Given the description of an element on the screen output the (x, y) to click on. 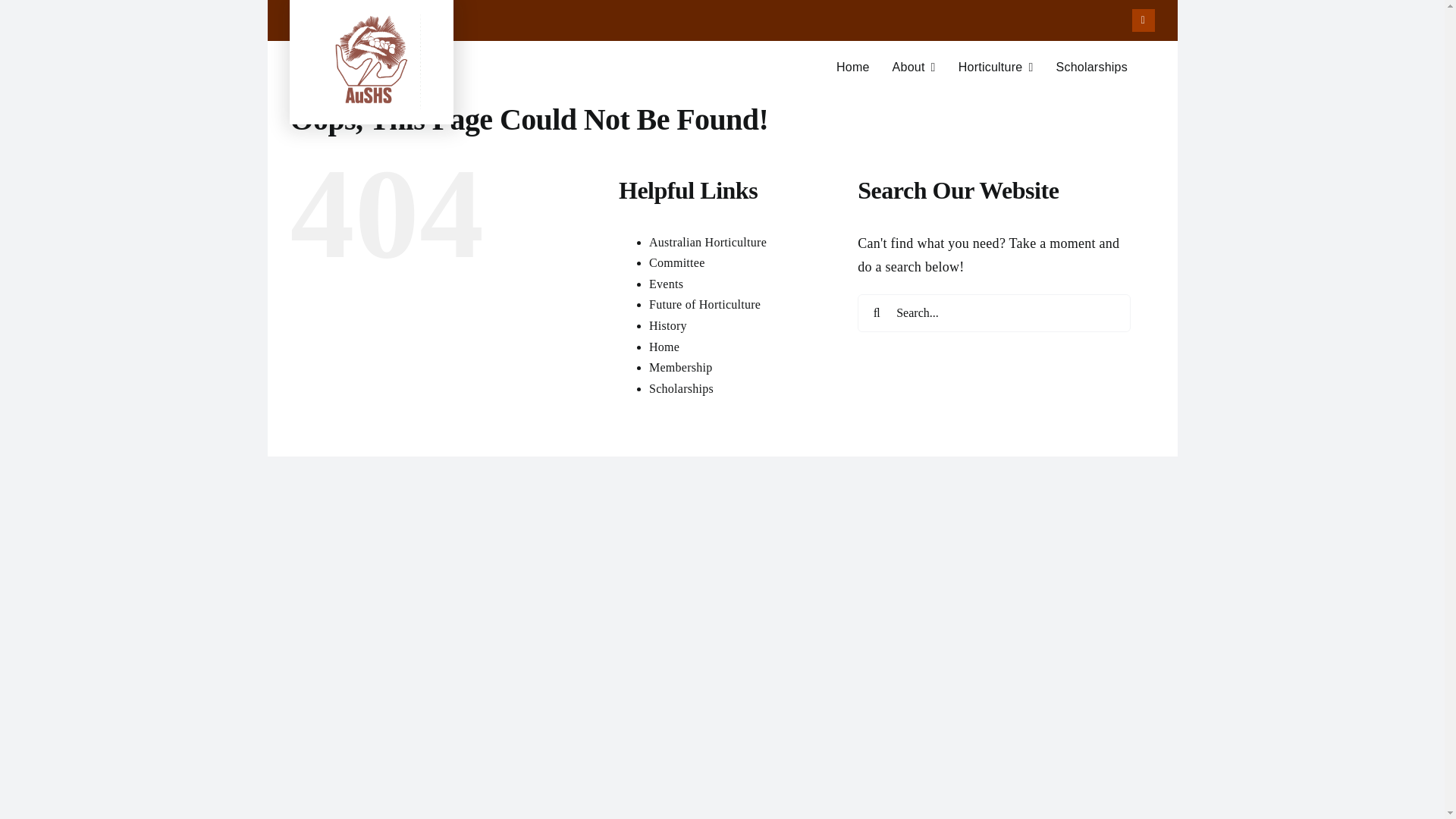
Scholarships (1090, 67)
Australian Horticulture (708, 241)
Scholarships (681, 388)
Committee (676, 262)
Future of Horticulture (721, 74)
History (704, 304)
Facebook (668, 325)
Membership (1143, 20)
Events (681, 367)
